Given the description of an element on the screen output the (x, y) to click on. 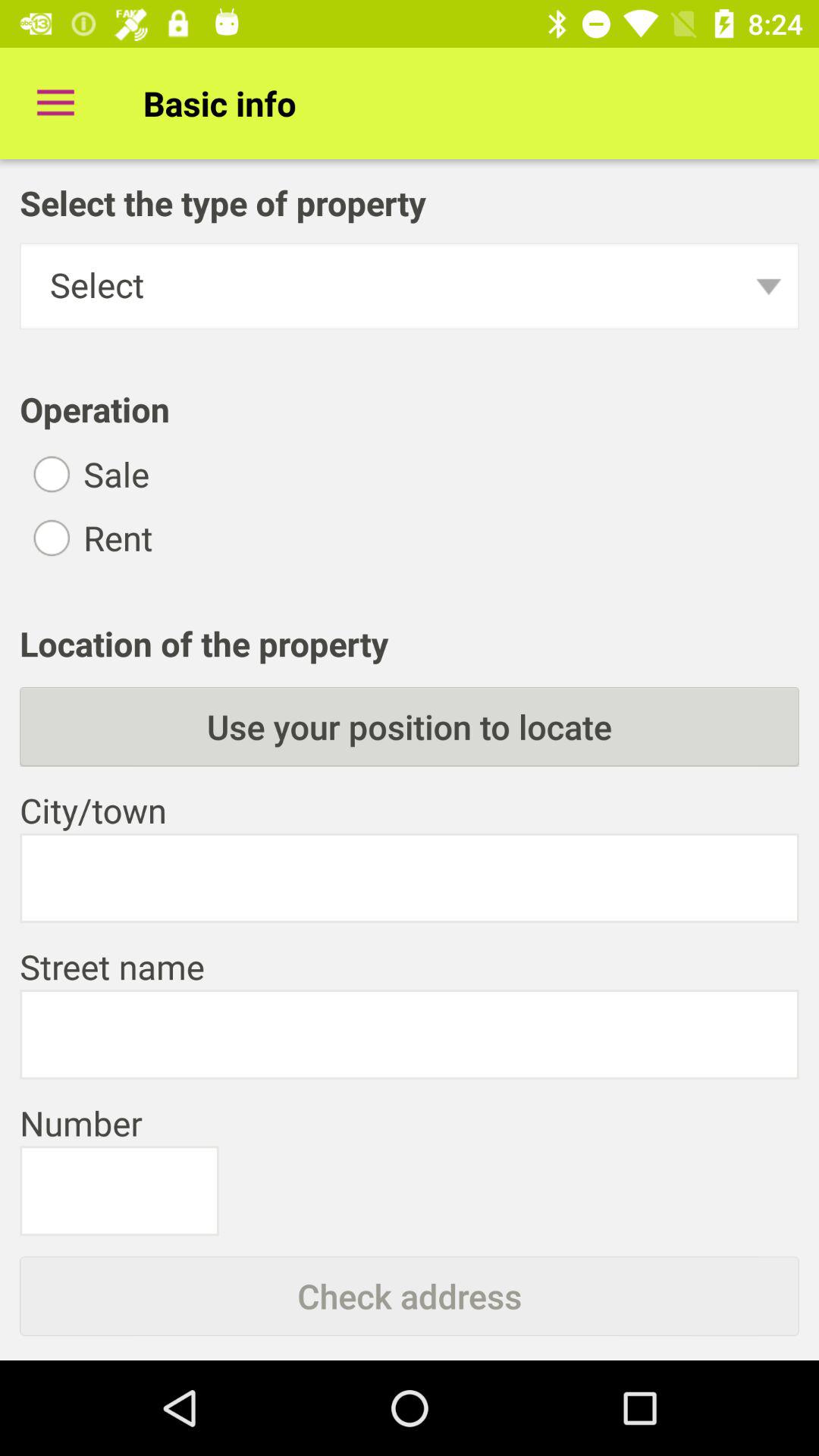
type in your address (409, 1034)
